Given the description of an element on the screen output the (x, y) to click on. 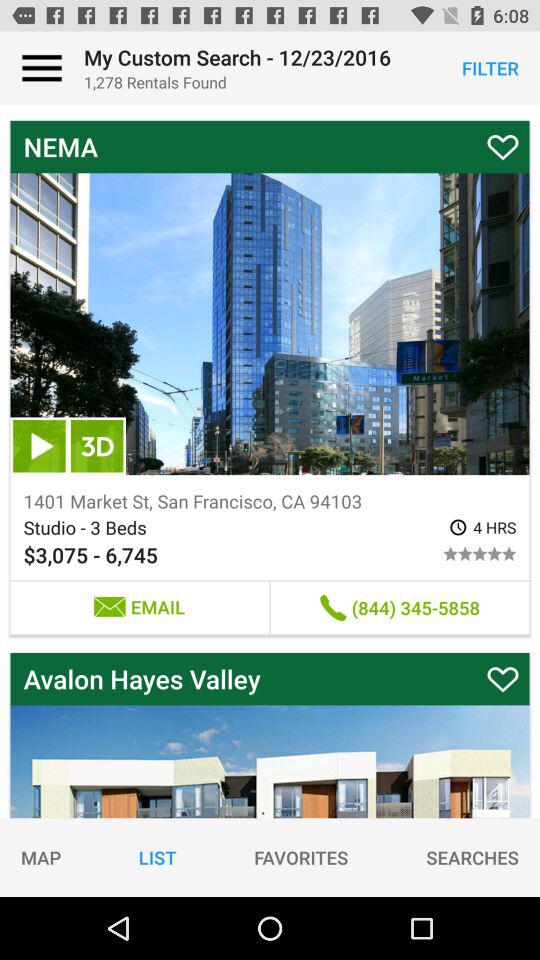
choose item next to the favorites item (472, 857)
